Given the description of an element on the screen output the (x, y) to click on. 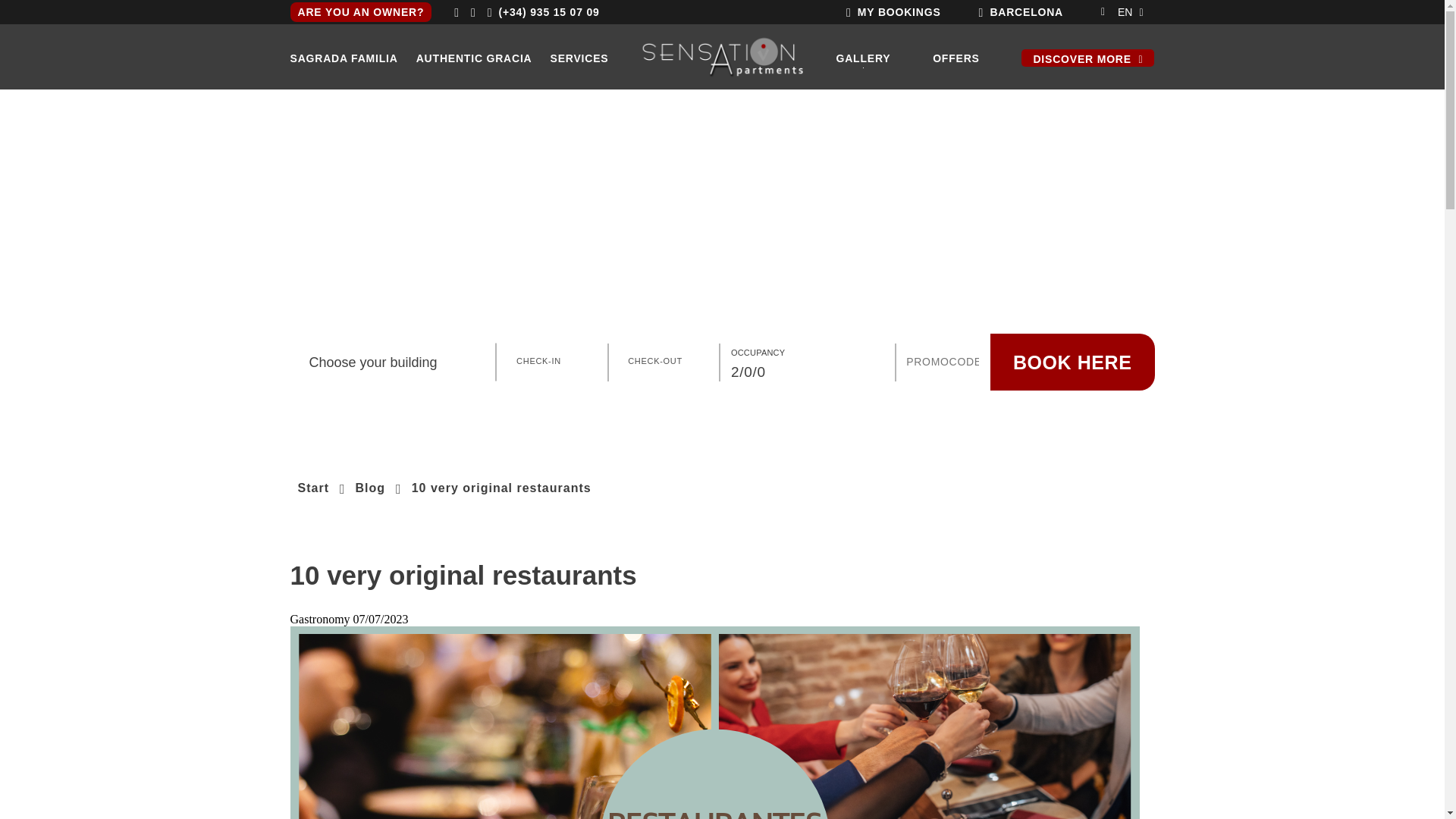
Blog (370, 488)
OFFERS (956, 57)
GALLERY (862, 57)
MY BOOKINGS (898, 11)
Start (312, 488)
AUTHENTIC GRACIA (474, 57)
ARE YOU AN OWNER? (359, 12)
10 very original restaurants (501, 488)
SERVICES (579, 57)
Choose your building (391, 361)
